Given the description of an element on the screen output the (x, y) to click on. 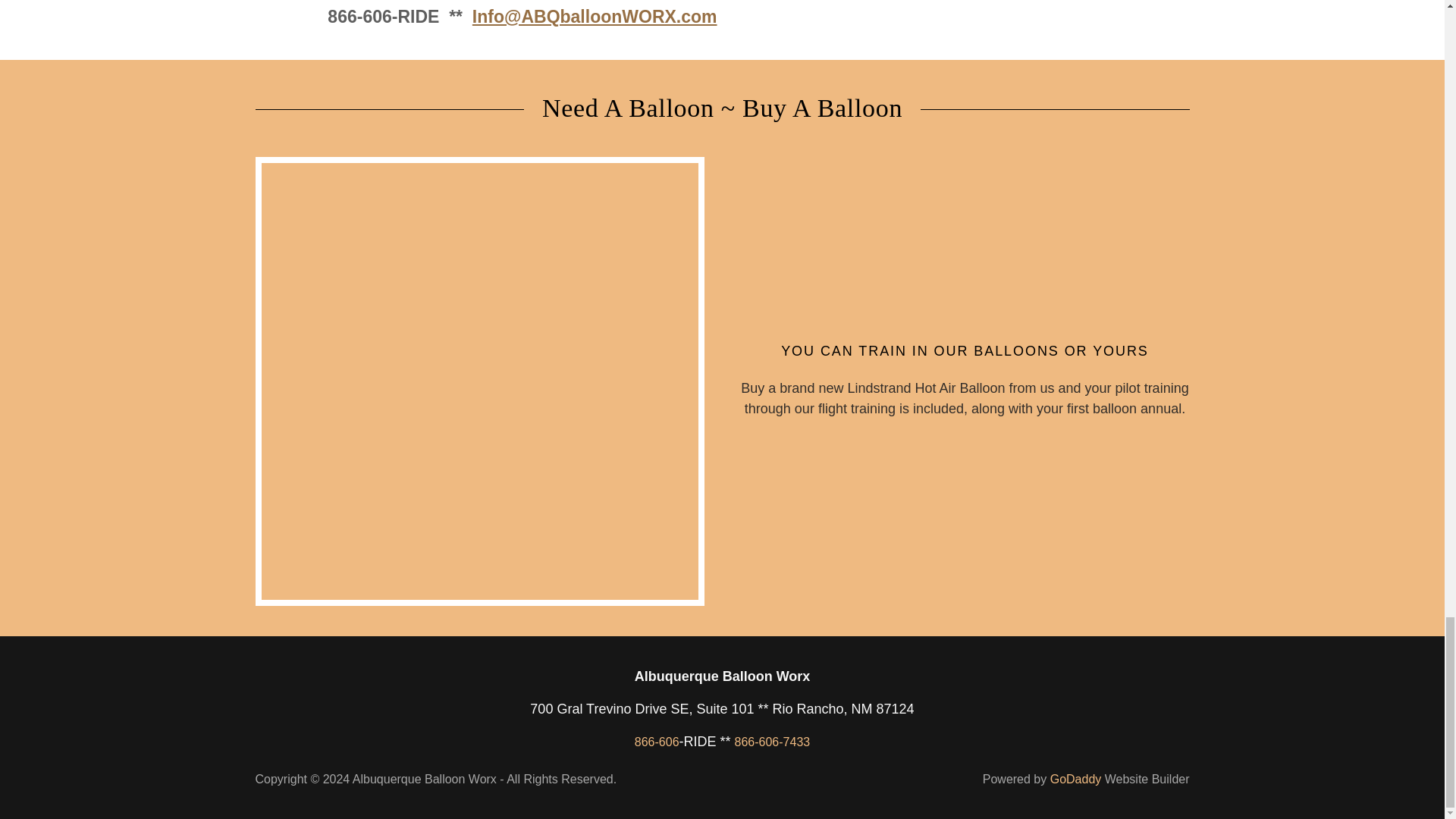
866-606 (656, 741)
866-606-7433 (772, 741)
GoDaddy (1075, 779)
